Given the description of an element on the screen output the (x, y) to click on. 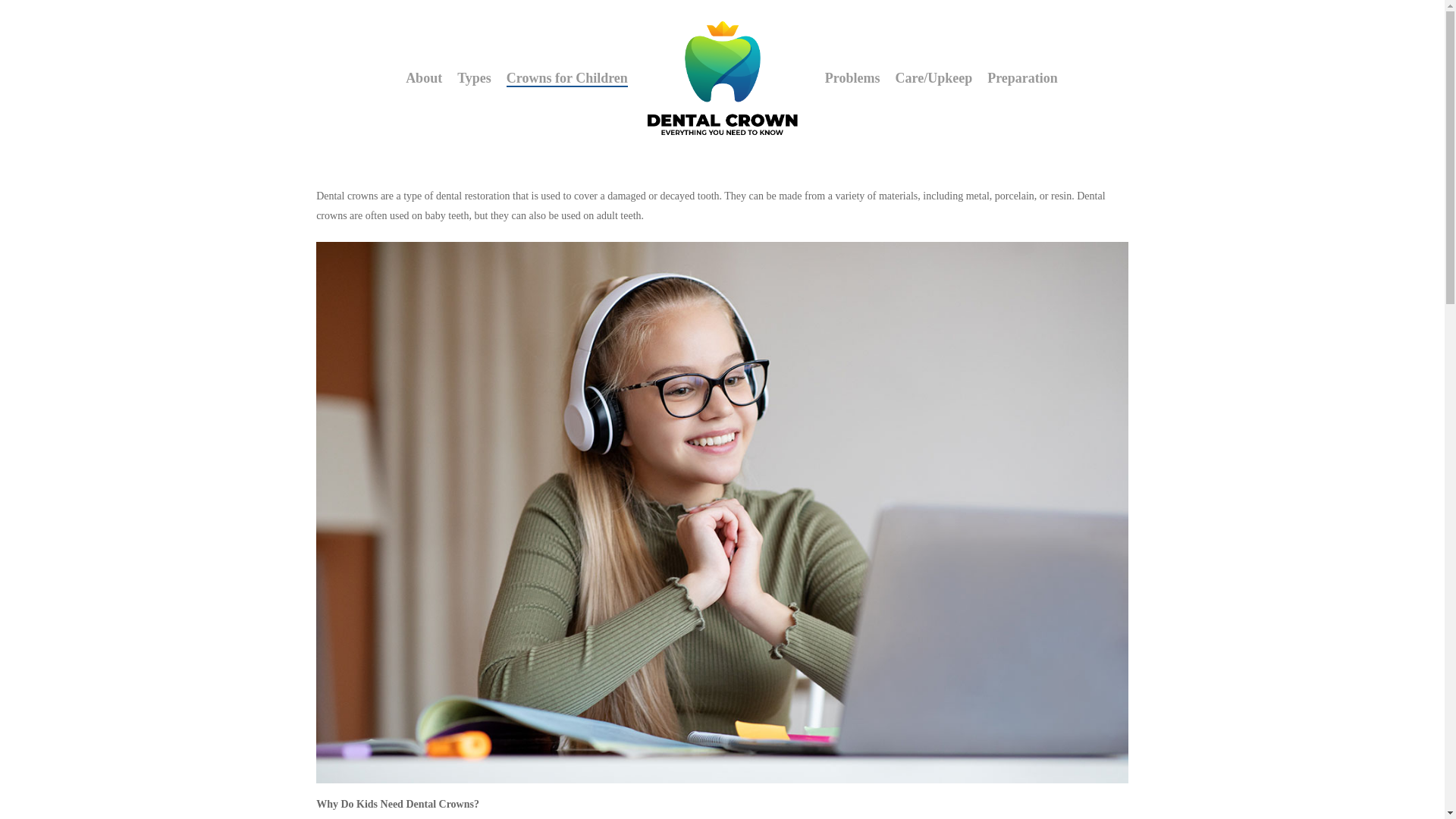
Types (474, 78)
Problems (852, 78)
Preparation (1022, 78)
About (424, 78)
Crowns for Children (566, 78)
